Given the description of an element on the screen output the (x, y) to click on. 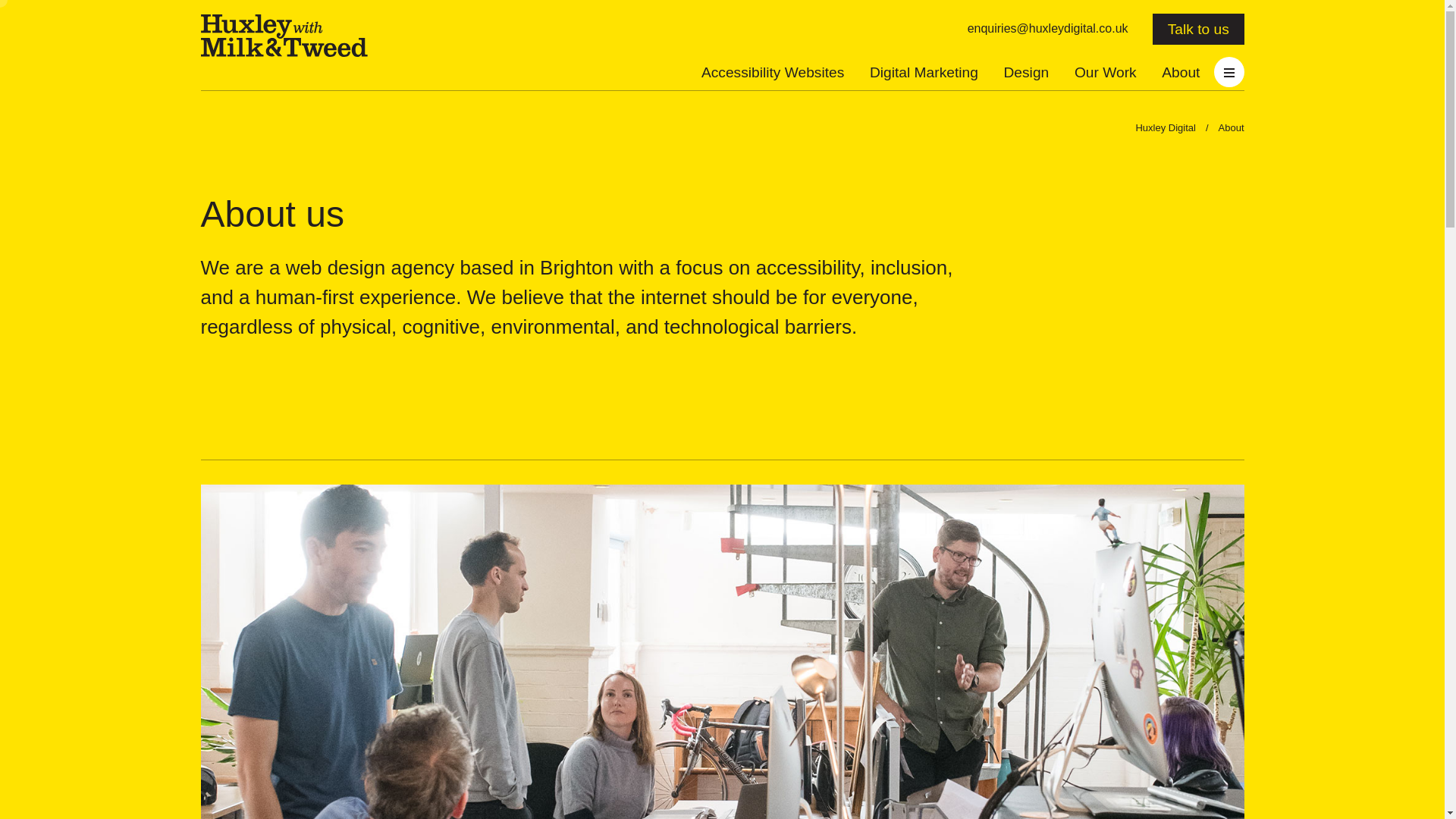
Accessibility Websites (772, 71)
Digital Marketing (923, 71)
Design (1025, 71)
Huxley Digital (283, 36)
